Given the description of an element on the screen output the (x, y) to click on. 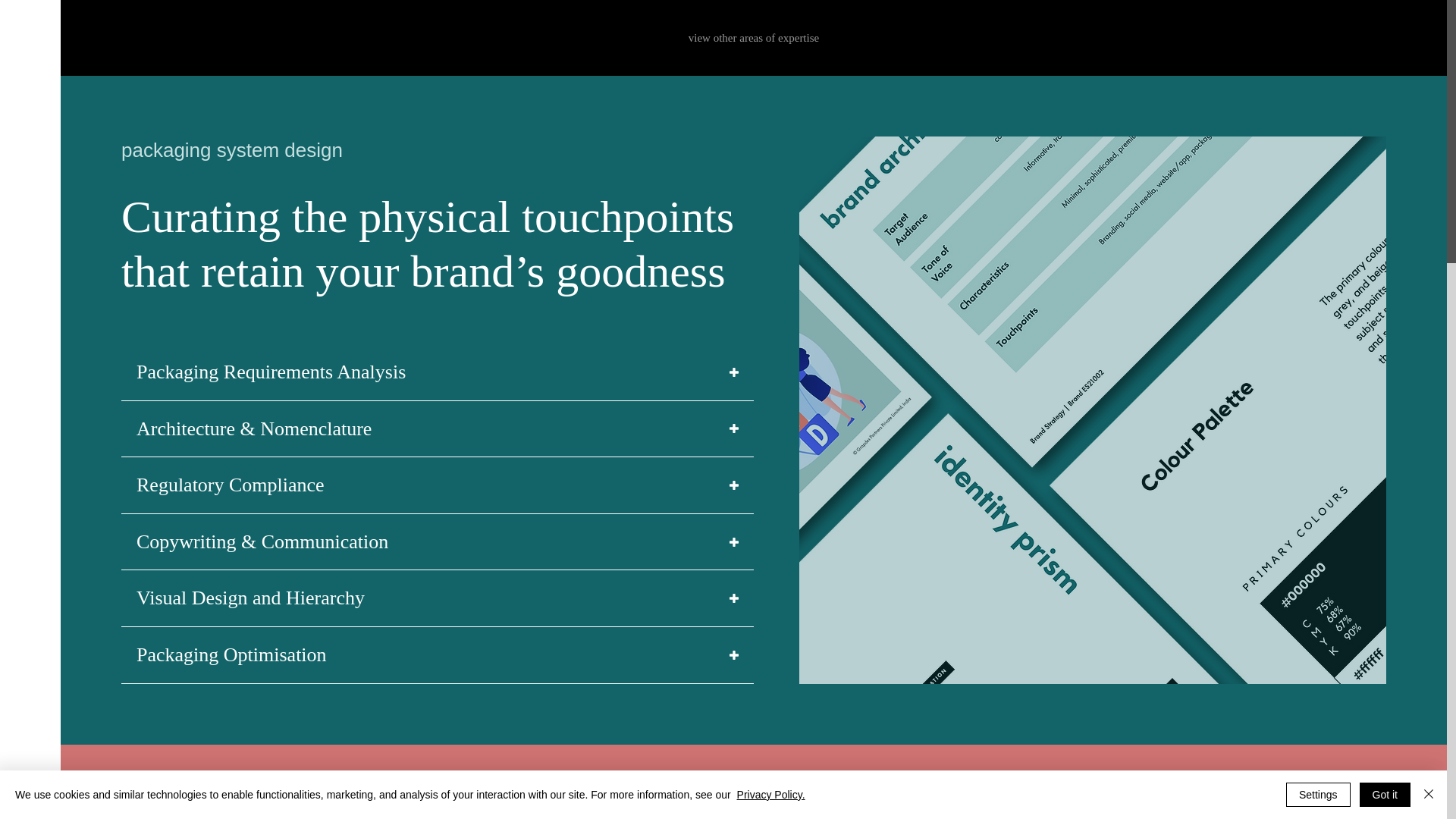
Visual Design and Hierarchy (437, 598)
Packaging Requirements Analysis (437, 371)
view other areas of expertise (753, 37)
Regulatory Compliance (437, 485)
Packaging Optimisation (437, 655)
